Given the description of an element on the screen output the (x, y) to click on. 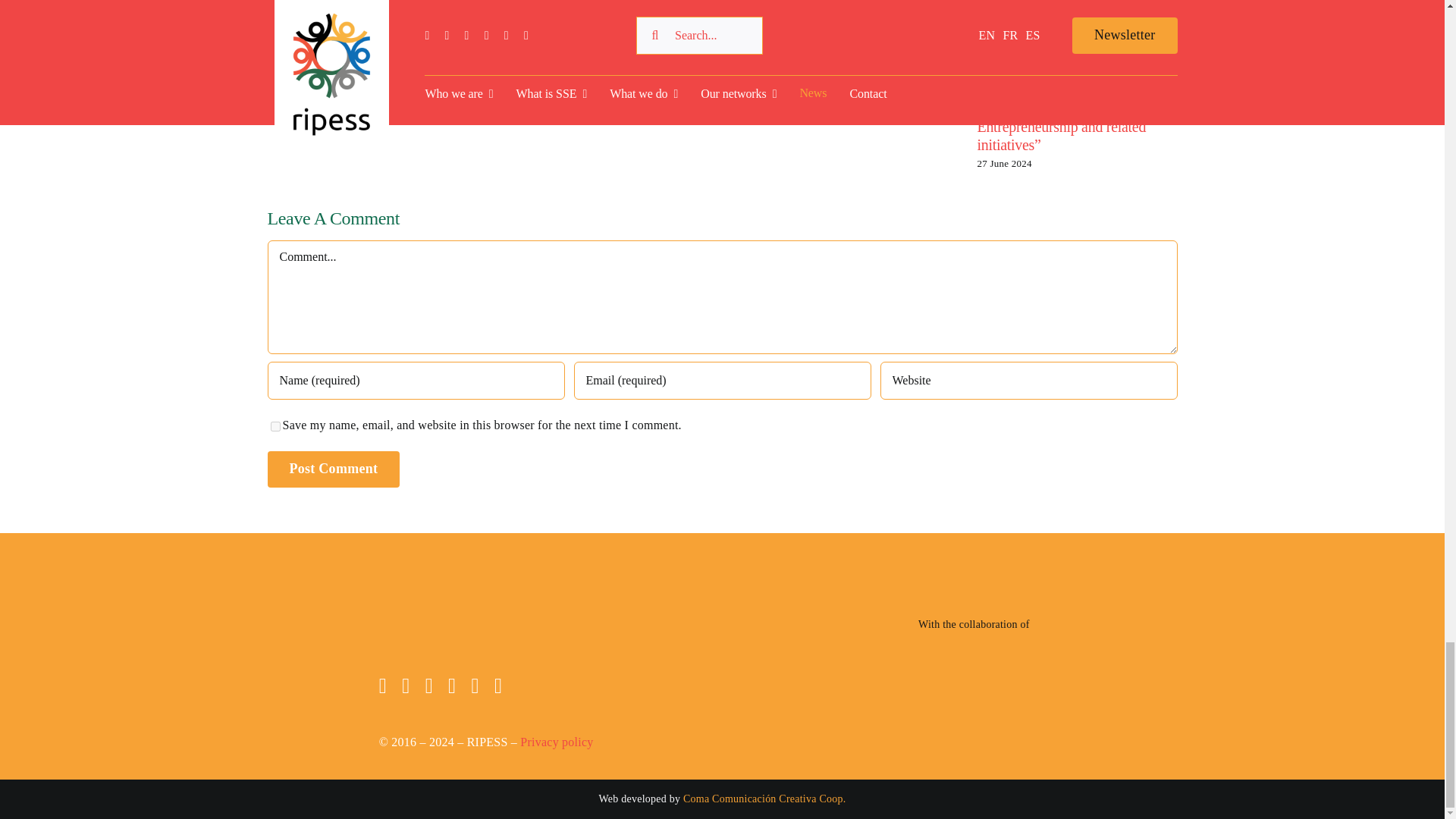
Post Comment (332, 469)
yes (274, 426)
